Given the description of an element on the screen output the (x, y) to click on. 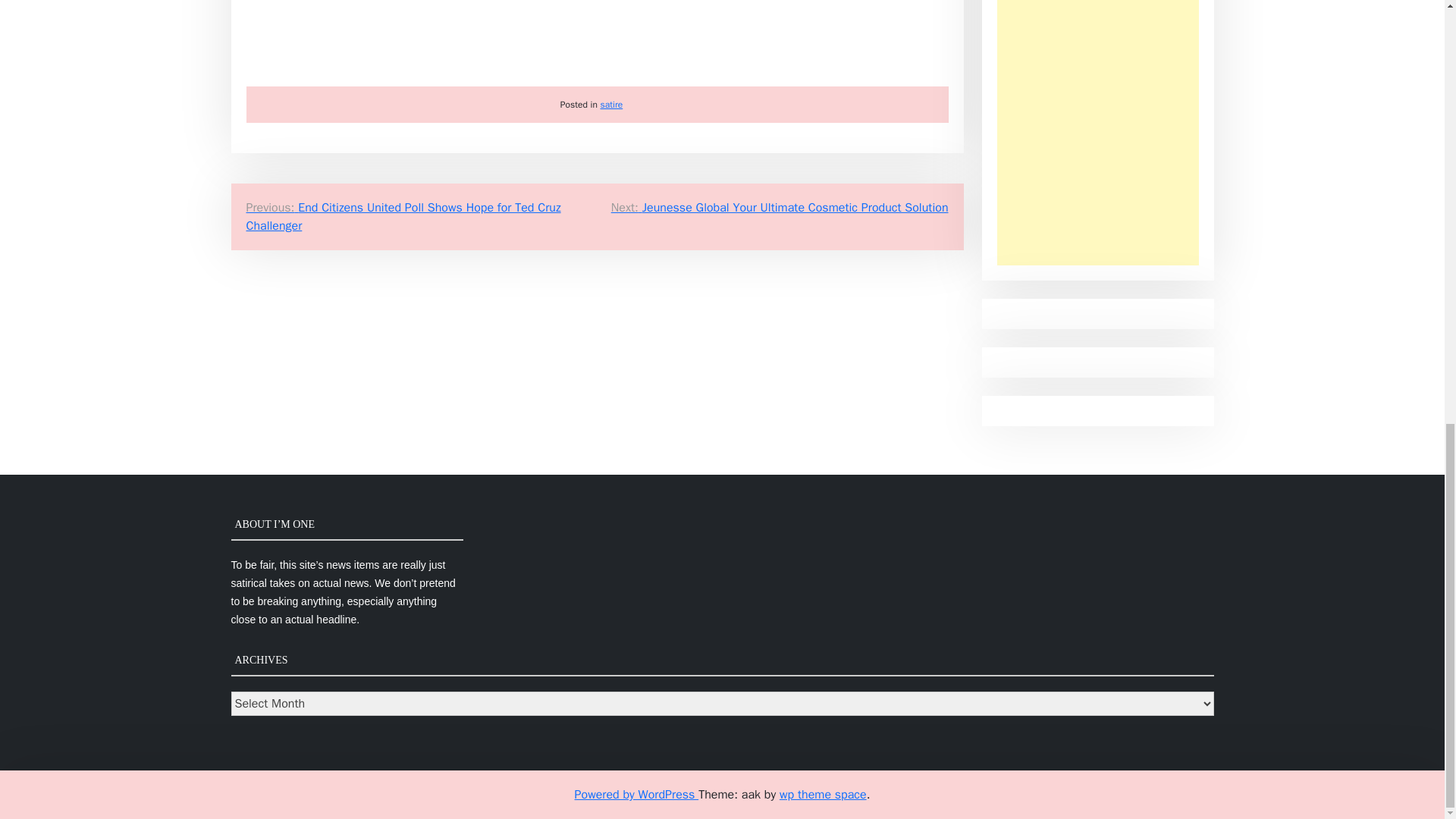
wp theme space (822, 794)
satire (611, 104)
Powered by WordPress (636, 794)
